Given the description of an element on the screen output the (x, y) to click on. 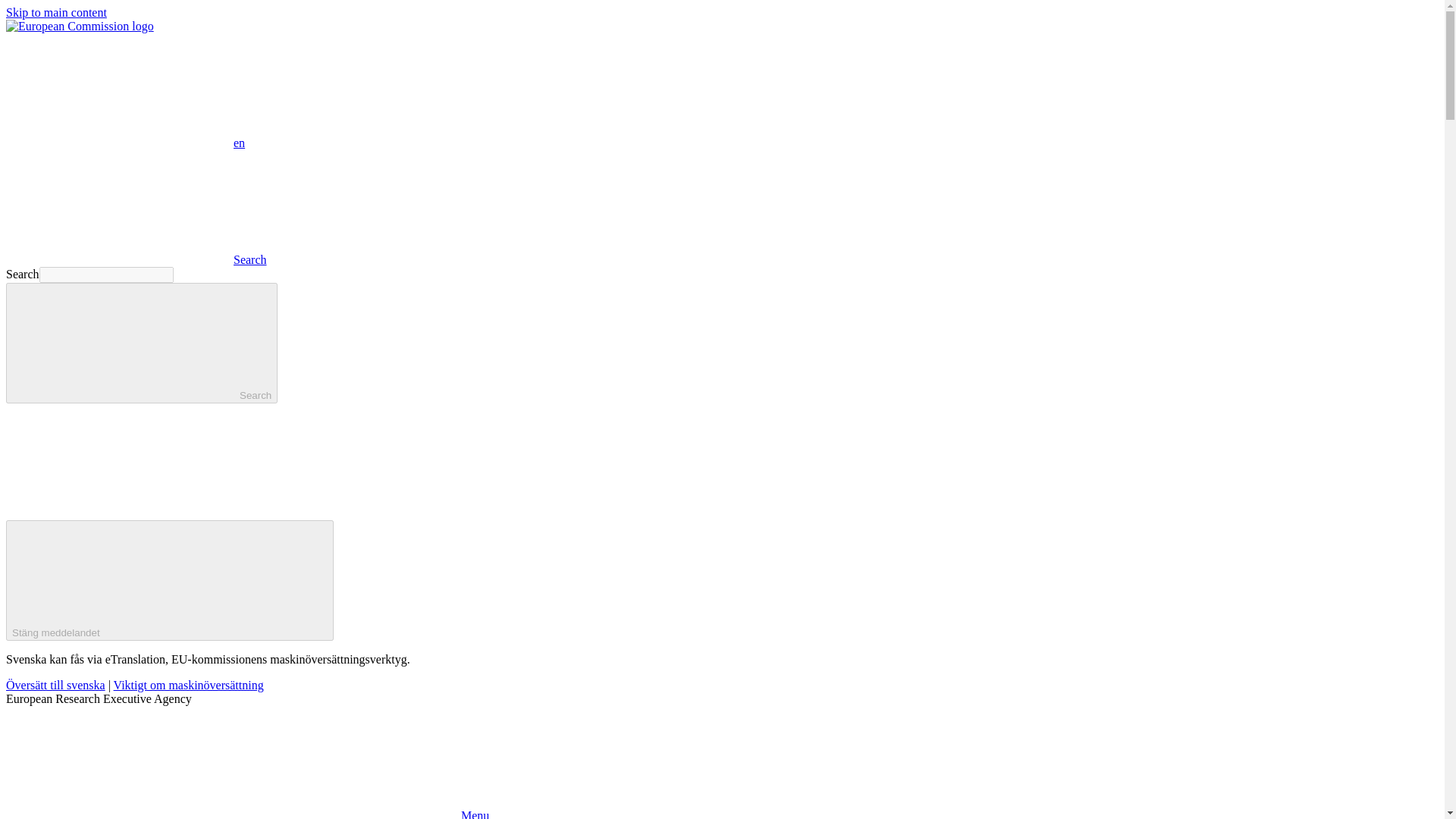
Search (135, 259)
Skip to main content (55, 11)
Search (141, 342)
enen (124, 142)
Menu (247, 814)
en (118, 90)
European Commission (79, 25)
